Given the description of an element on the screen output the (x, y) to click on. 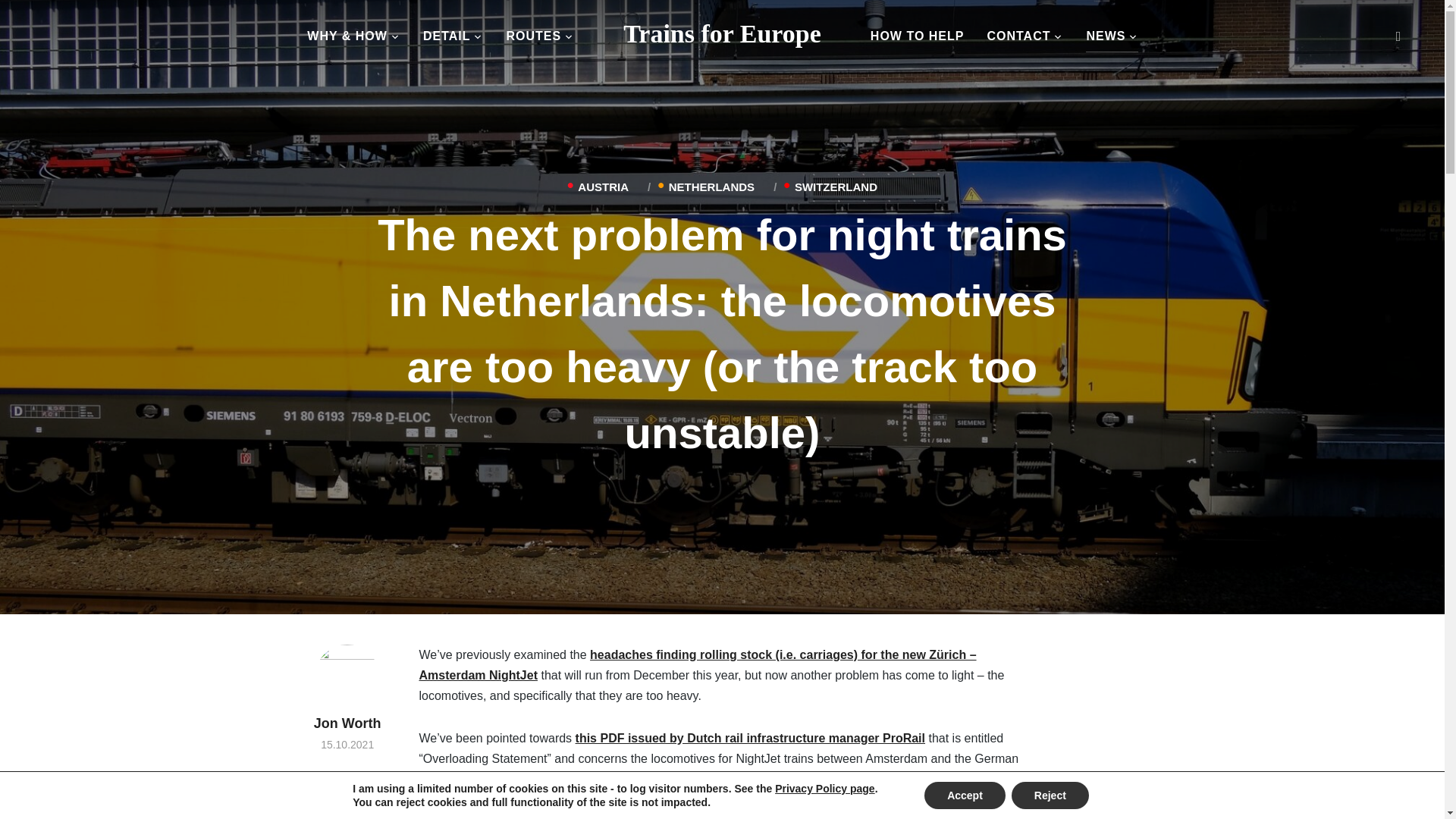
Posts by Jon Worth (347, 687)
New night trains for cross-border routes (722, 33)
